Given the description of an element on the screen output the (x, y) to click on. 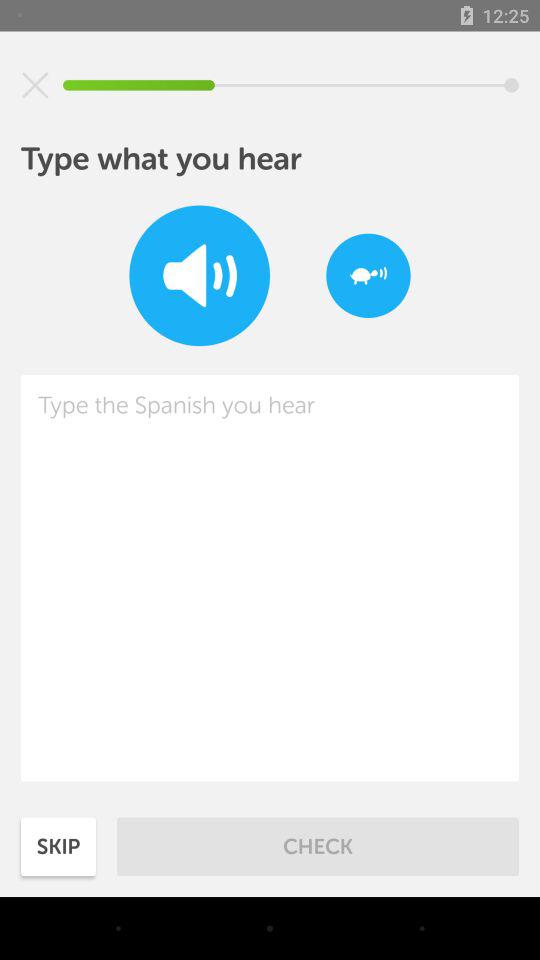
stop playing (35, 85)
